Given the description of an element on the screen output the (x, y) to click on. 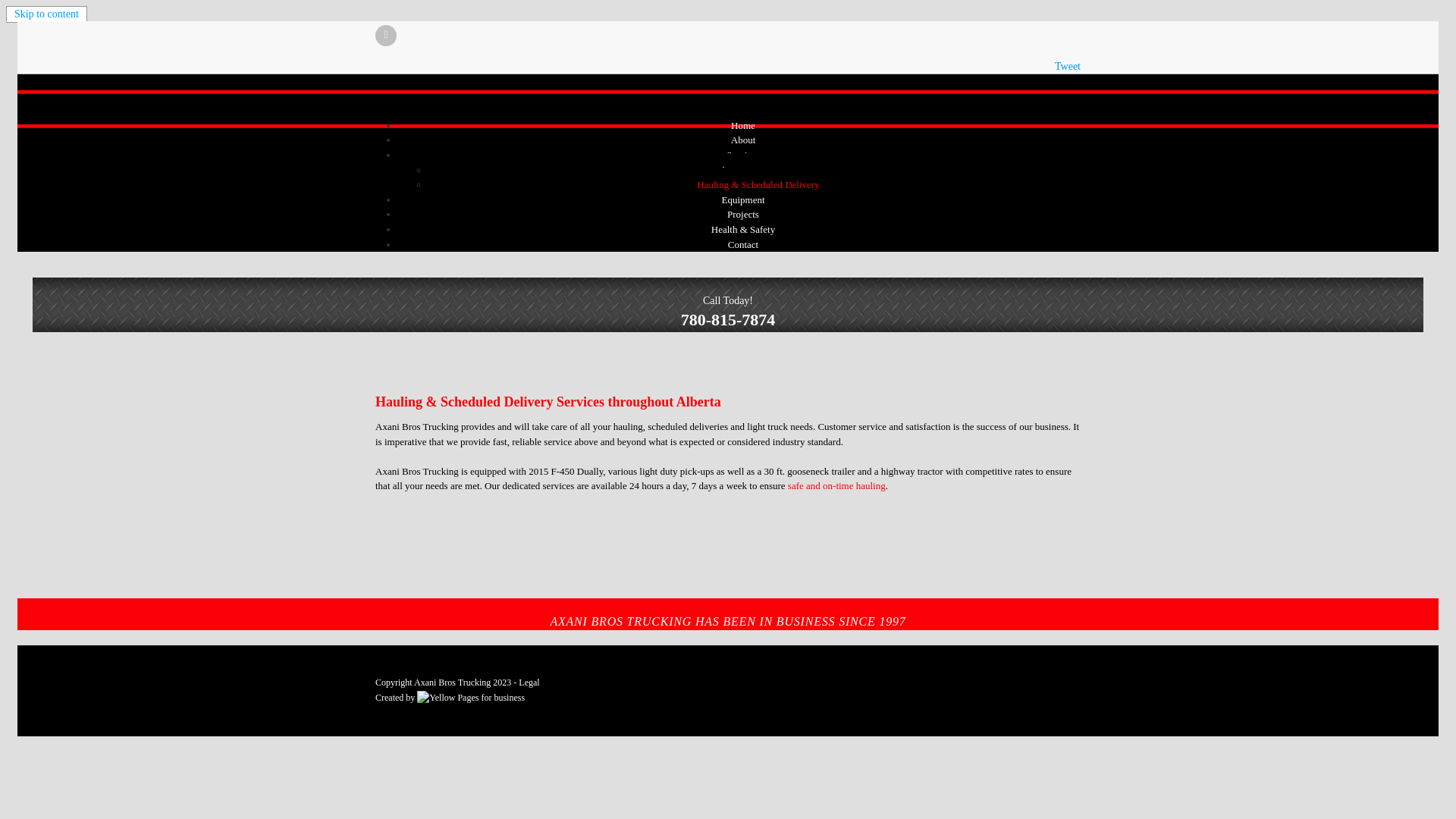
About Element type: text (743, 139)
Home Element type: text (742, 125)
Axani Bros Trucking Element type: text (452, 682)
Legal Element type: text (528, 682)
safe and on-time hauling Element type: text (836, 485)
Projects Element type: text (742, 213)
Skip to content Element type: text (46, 13)
780-815-7874 Element type: text (727, 319)
Equipment Element type: text (742, 199)
Picker & Crane Services Element type: text (758, 170)
Hauling & Scheduled Delivery Element type: text (757, 184)
Tweet Element type: text (1067, 66)
Health & Safety Element type: text (742, 229)
Services Element type: text (743, 154)
Contact Element type: text (742, 244)
Go To Home Page Element type: hover (364, 81)
